Given the description of an element on the screen output the (x, y) to click on. 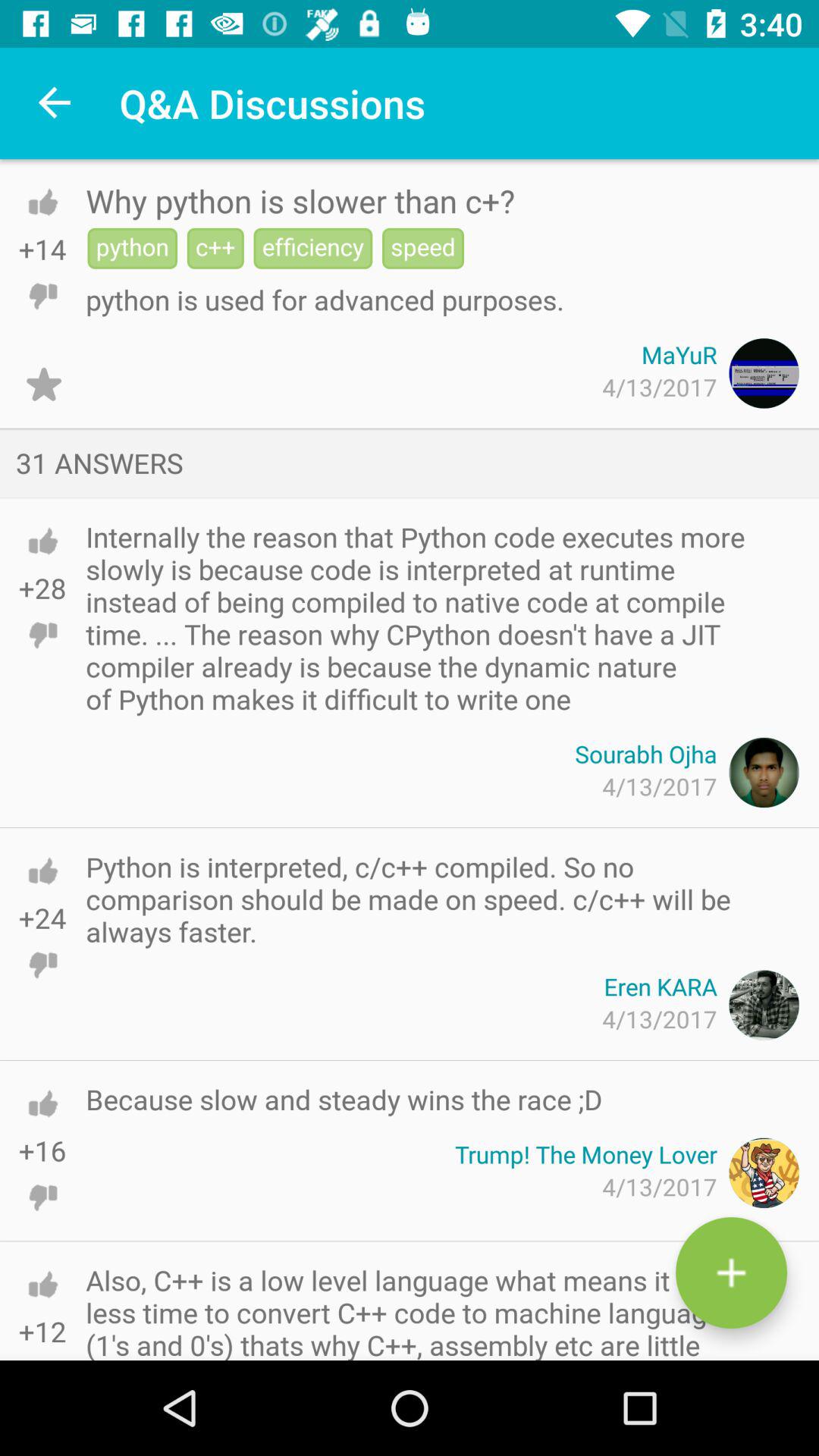
like this answer (42, 1103)
